Given the description of an element on the screen output the (x, y) to click on. 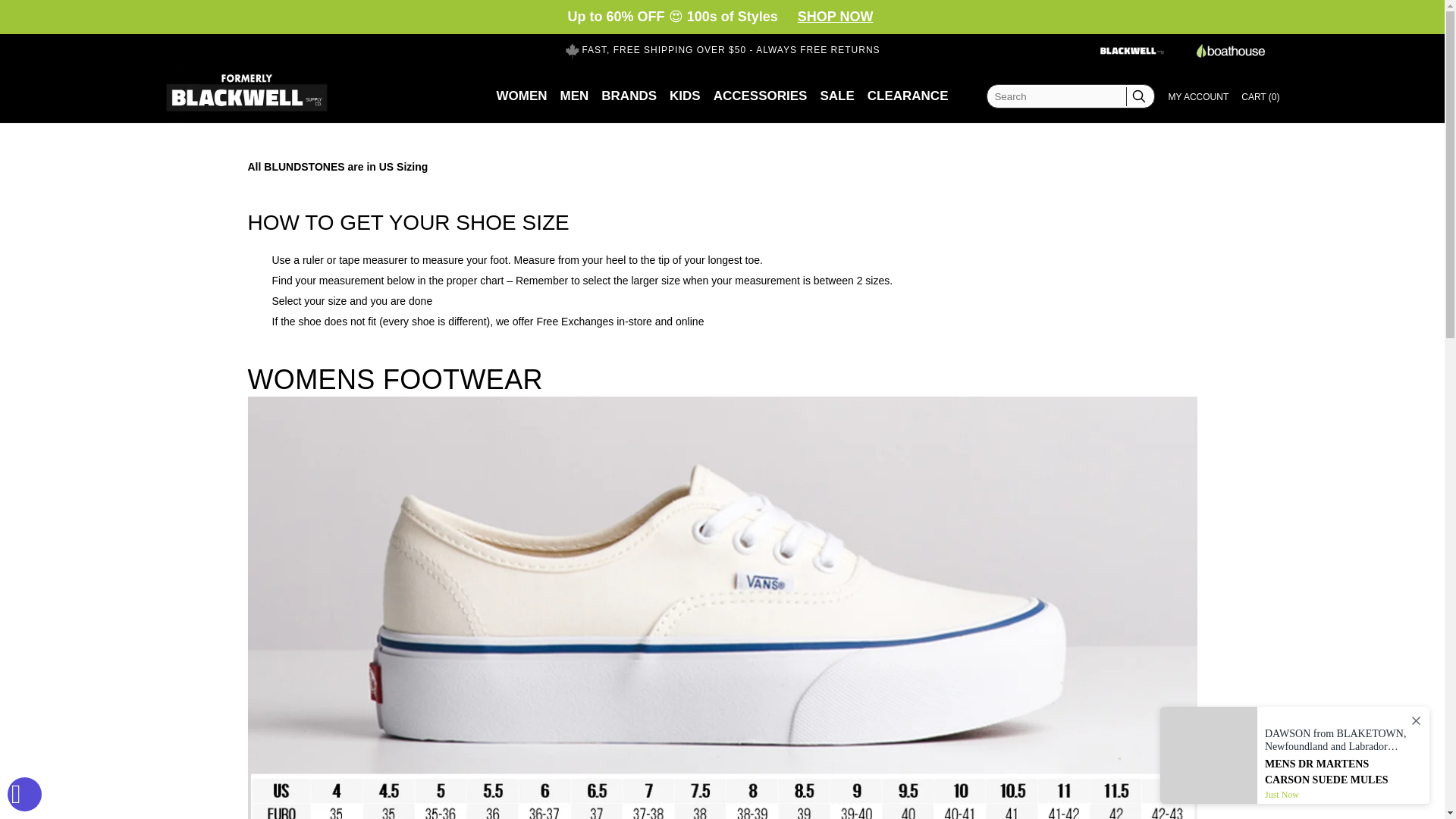
Blackwell is now Boathouse Footwear Collective (1131, 50)
Boathouse (1230, 50)
